Given the description of an element on the screen output the (x, y) to click on. 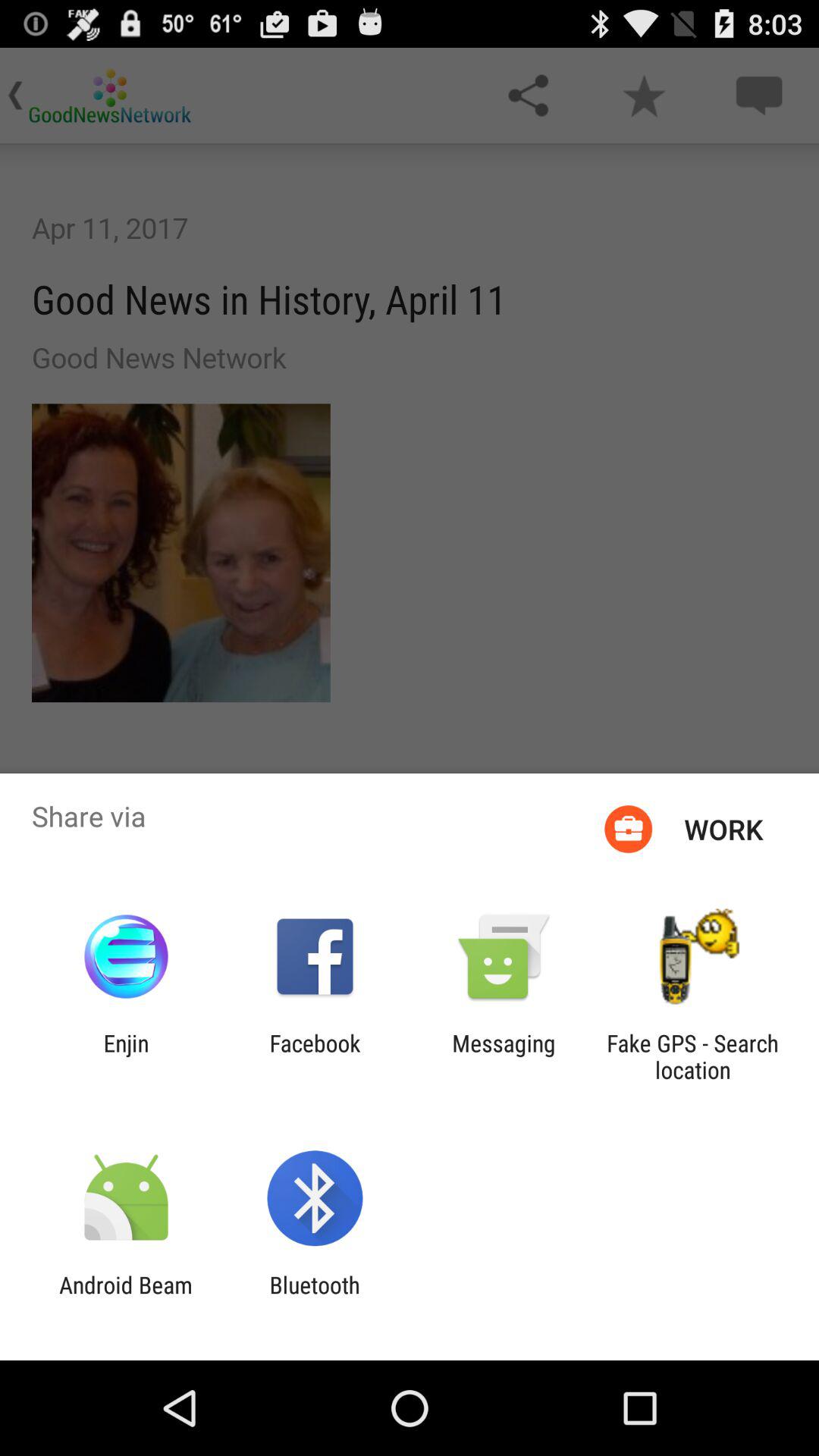
tap the enjin app (126, 1056)
